Given the description of an element on the screen output the (x, y) to click on. 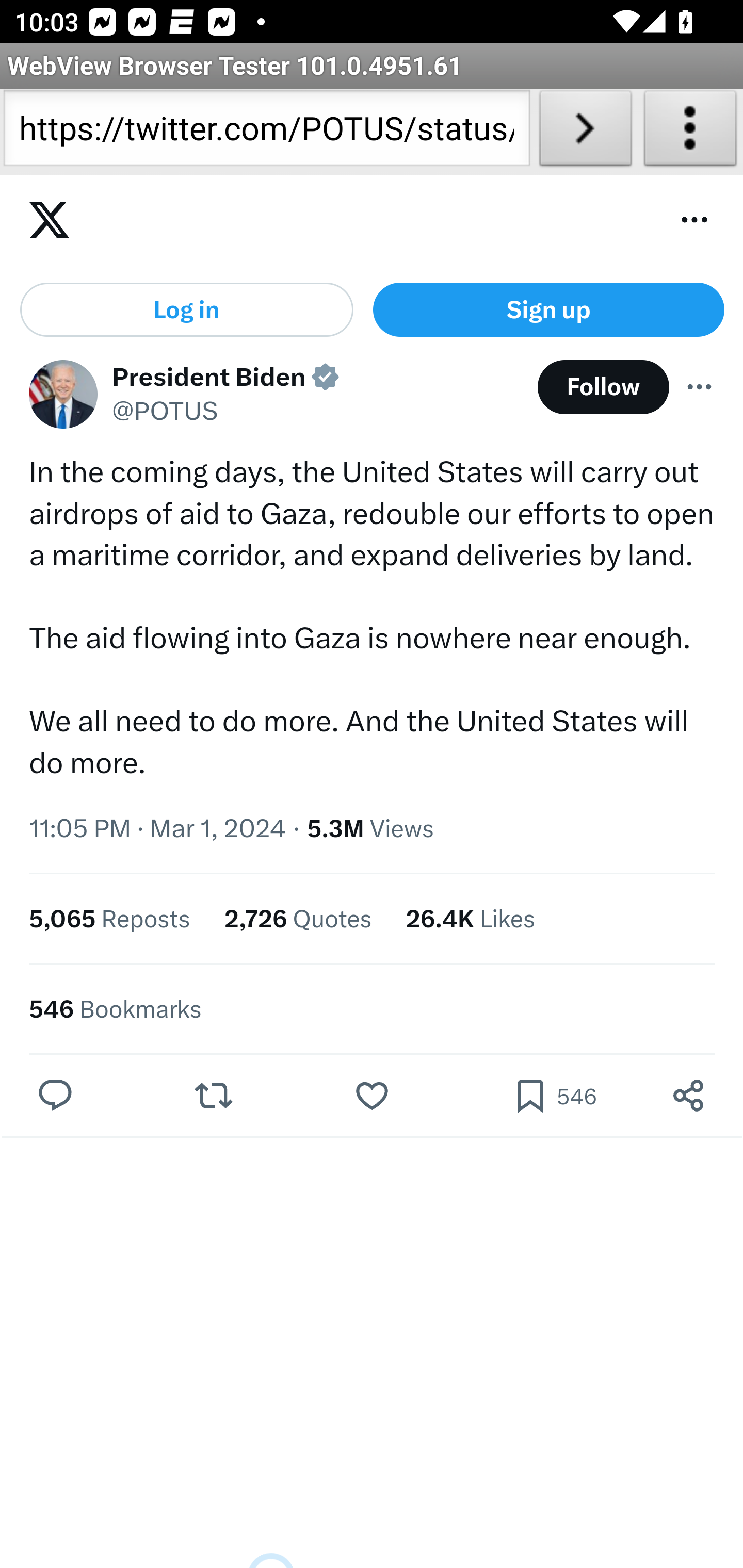
Load URL (585, 132)
About WebView (690, 132)
POTUS (63, 395)
Follow @POTUS (602, 388)
More (699, 388)
@POTUS (165, 413)
11:05 PM · Mar 1, 2024 (157, 829)
5,065 Reposts 5,065   Reposts (109, 920)
2,726 Quotes 2,726   Quotes (298, 920)
26.4K Likes 26.4K   Likes (470, 920)
Reply (55, 1097)
Repost (212, 1097)
Like (371, 1097)
546 Bookmarks. Bookmark (554, 1097)
Share post (688, 1097)
